Given the description of an element on the screen output the (x, y) to click on. 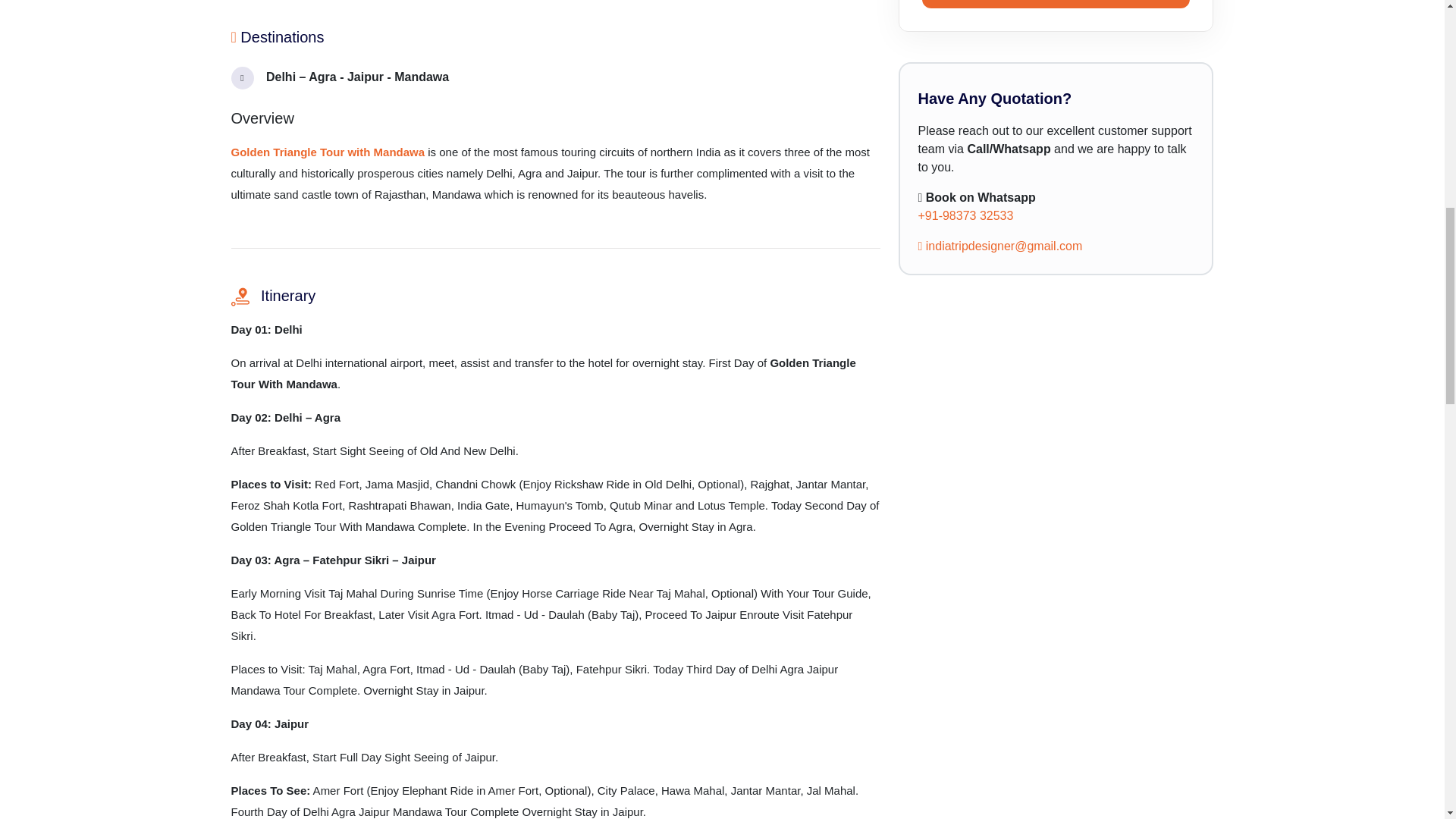
Golden Triangle Tour with Mandawa (327, 151)
SEND ENQUIRY (1056, 4)
